Given the description of an element on the screen output the (x, y) to click on. 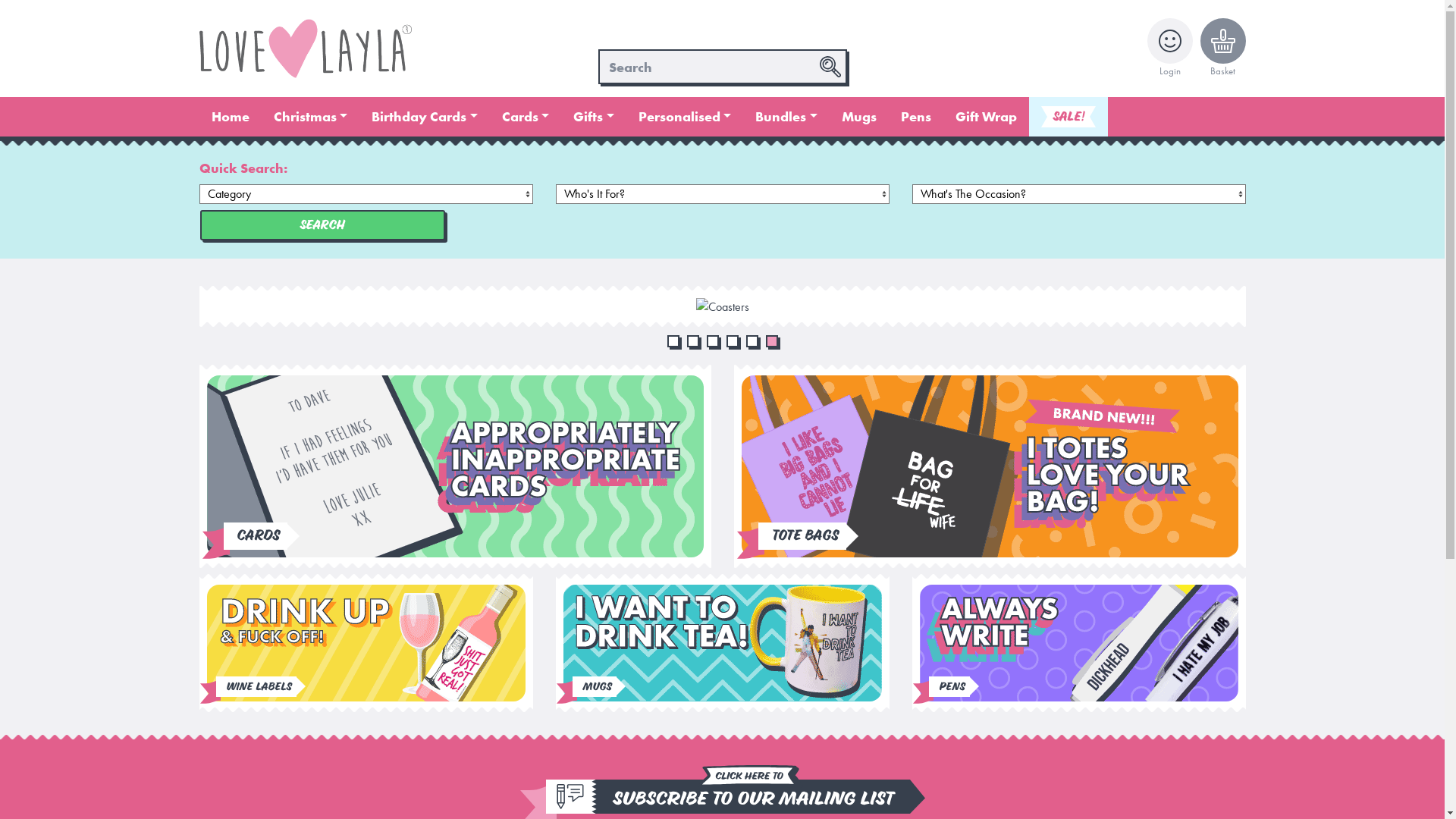
Personalised Element type: text (684, 116)
Birthday Cards Element type: text (424, 116)
Cards Element type: text (254, 535)
Pens Element type: text (915, 116)
Gift Wrap Element type: text (986, 116)
Bundles Element type: text (786, 116)
Cards Element type: text (525, 116)
Pens Element type: text (948, 686)
Basket Element type: text (1222, 48)
Login Element type: text (1169, 48)
Mugs Element type: text (858, 116)
Tote Bags Element type: text (802, 535)
Christmas Element type: text (309, 116)
Mugs Element type: text (593, 686)
Wine Labels Element type: text (255, 686)
Home
(current) Element type: text (229, 116)
Gifts Element type: text (593, 116)
SALE! Element type: text (1068, 116)
